Given the description of an element on the screen output the (x, y) to click on. 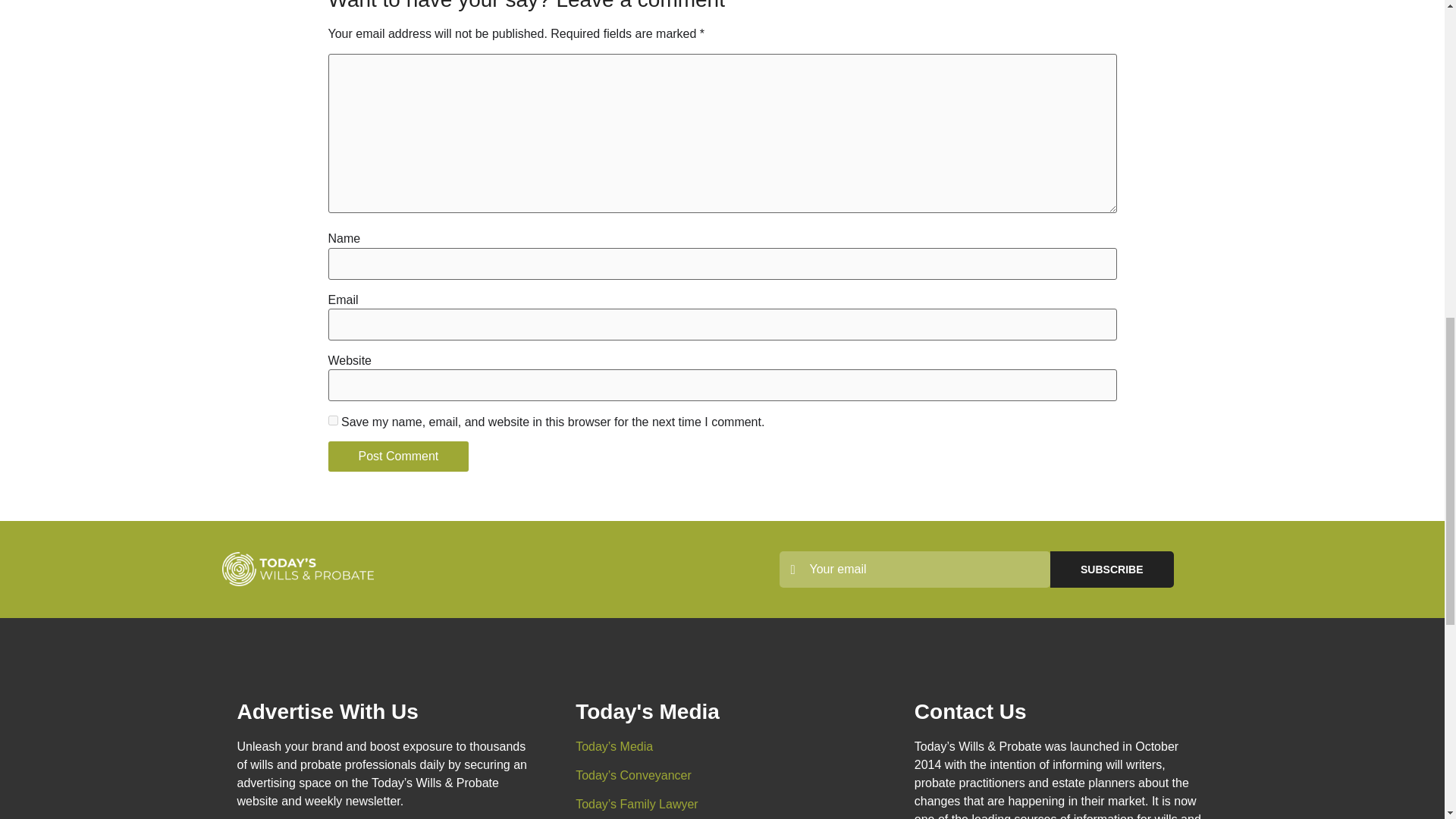
yes (332, 420)
Subscribe (1111, 569)
Post Comment (397, 456)
